Given the description of an element on the screen output the (x, y) to click on. 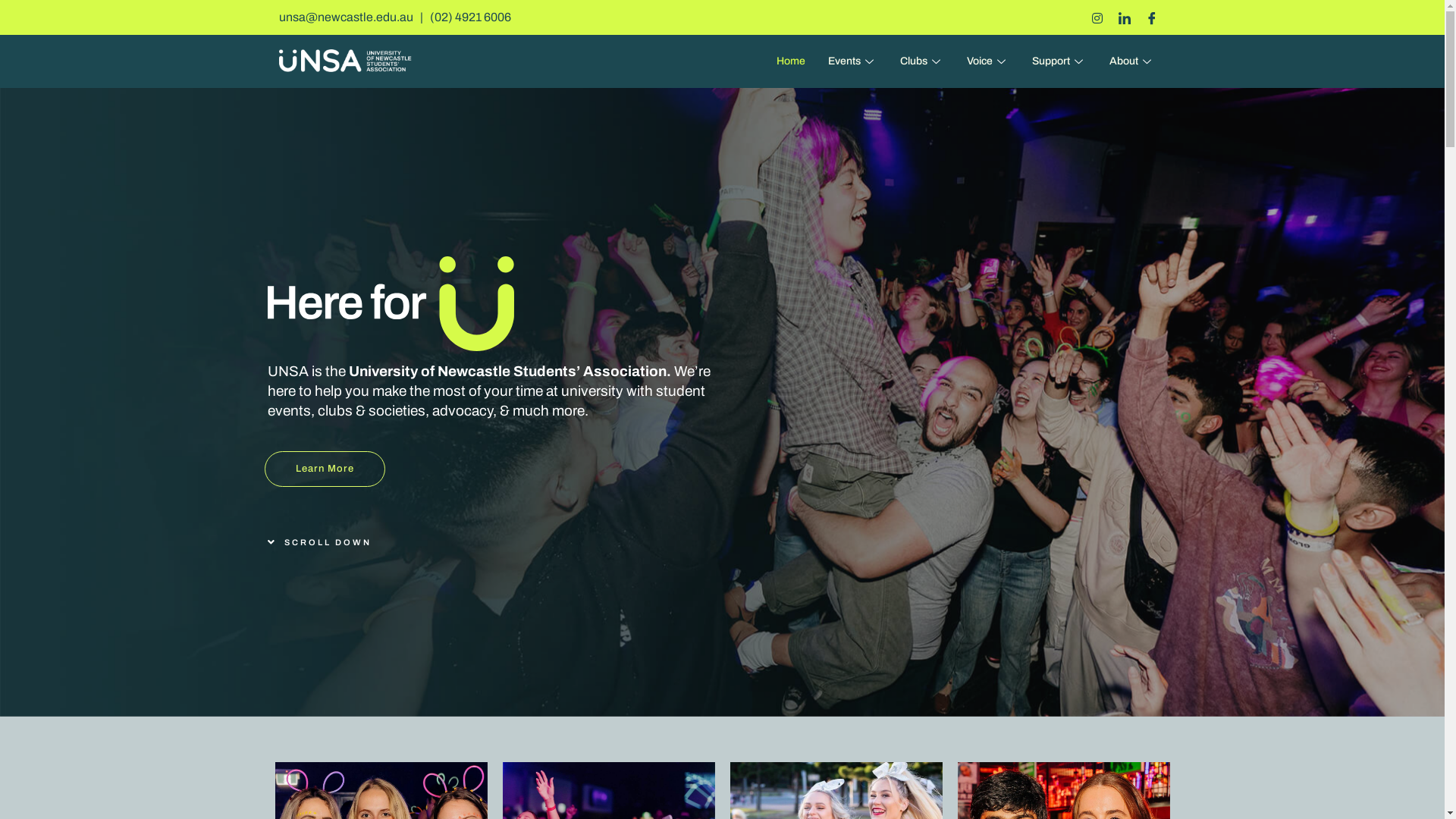
Learn More Element type: text (323, 468)
Clubs Element type: text (921, 61)
SCROLL DOWN Element type: text (318, 541)
Support Element type: text (1059, 61)
About Element type: text (1132, 61)
Home Element type: text (789, 61)
Events Element type: text (851, 61)
Voice Element type: text (987, 61)
